Given the description of an element on the screen output the (x, y) to click on. 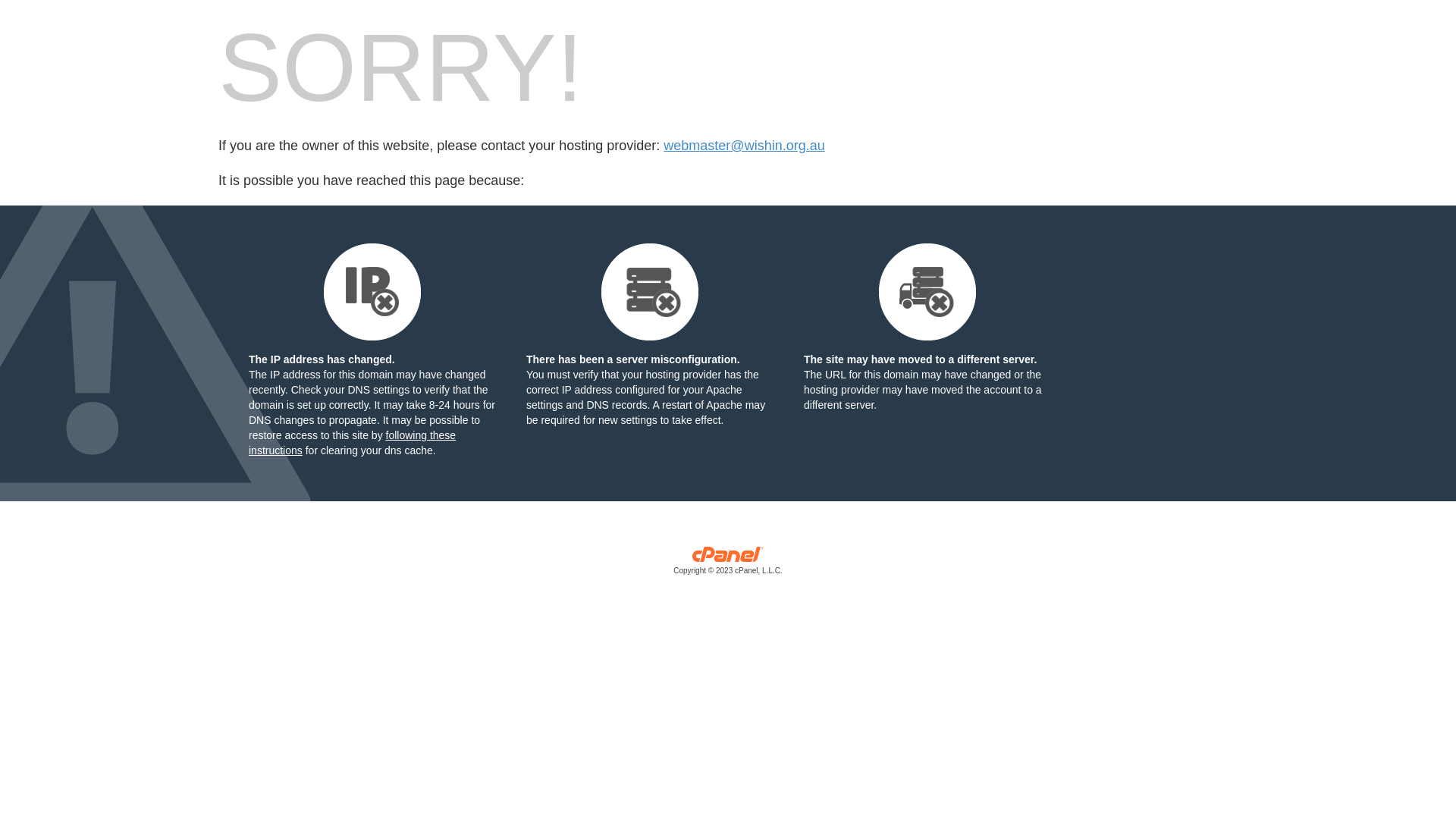
following these instructions Element type: text (351, 442)
webmaster@wishin.org.au Element type: text (743, 145)
